Given the description of an element on the screen output the (x, y) to click on. 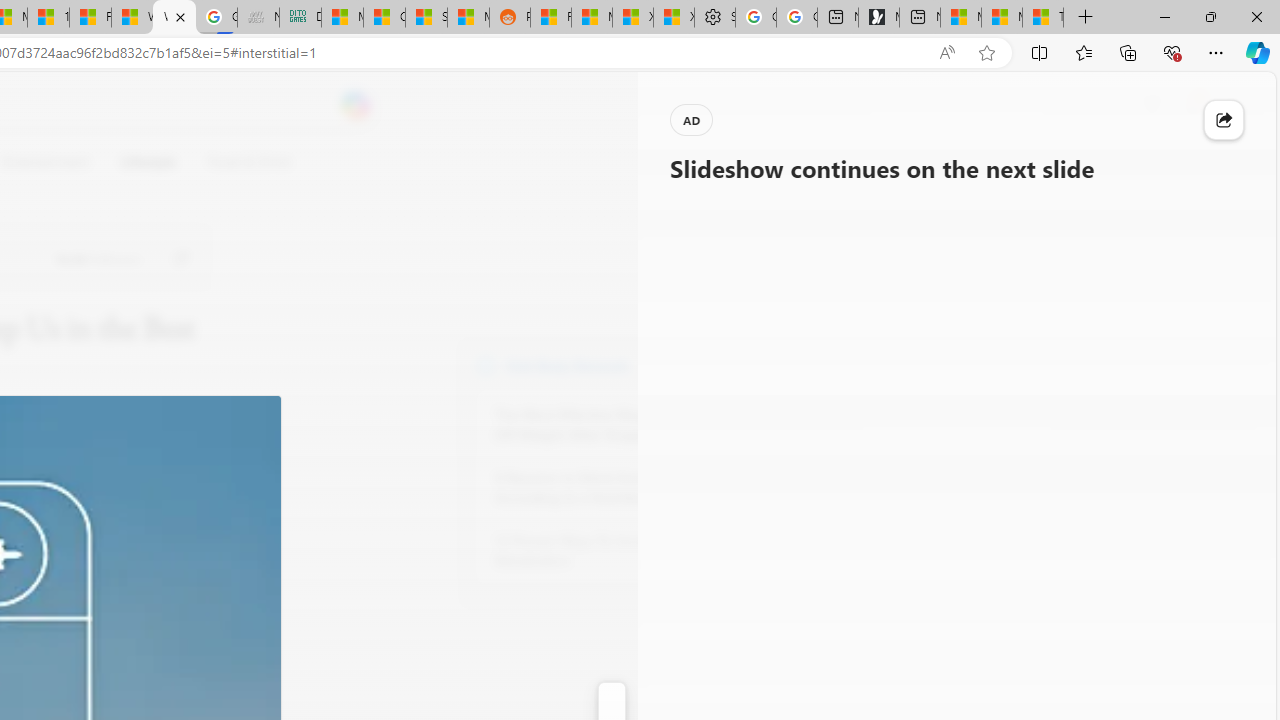
Share this story (1224, 119)
12 Proven Ways To Increase Your Metabolism (603, 550)
